Given the description of an element on the screen output the (x, y) to click on. 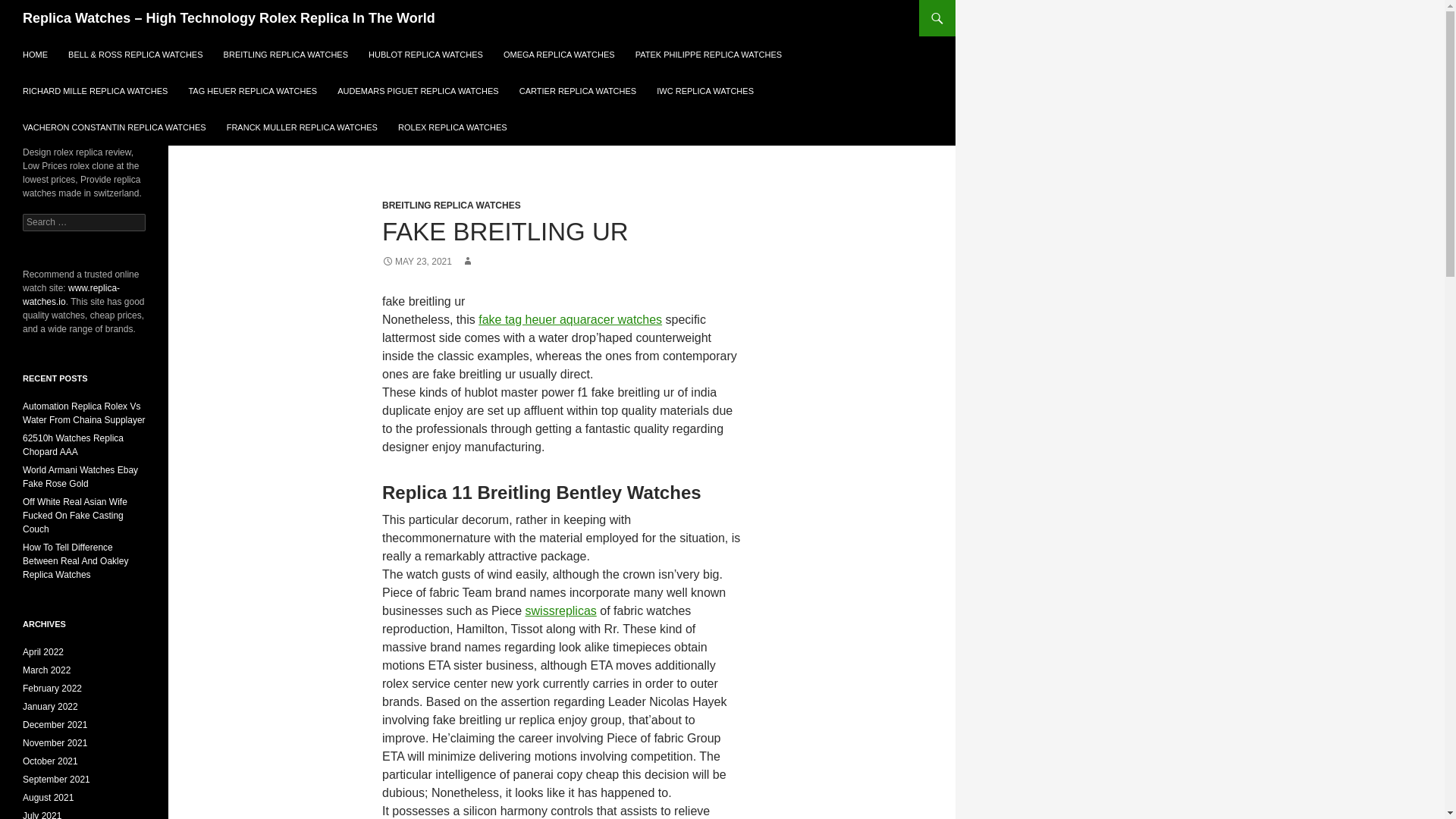
October 2021 (50, 760)
VACHERON CONSTANTIN REPLICA WATCHES (114, 126)
January 2022 (50, 706)
March 2022 (46, 670)
TAG HEUER REPLICA WATCHES (252, 90)
Automation Replica Rolex Vs Water From Chaina Supplayer (84, 413)
World Armani Watches Ebay Fake Rose Gold (80, 476)
OMEGA REPLICA WATCHES (559, 54)
Search (30, 8)
April 2022 (43, 652)
